Given the description of an element on the screen output the (x, y) to click on. 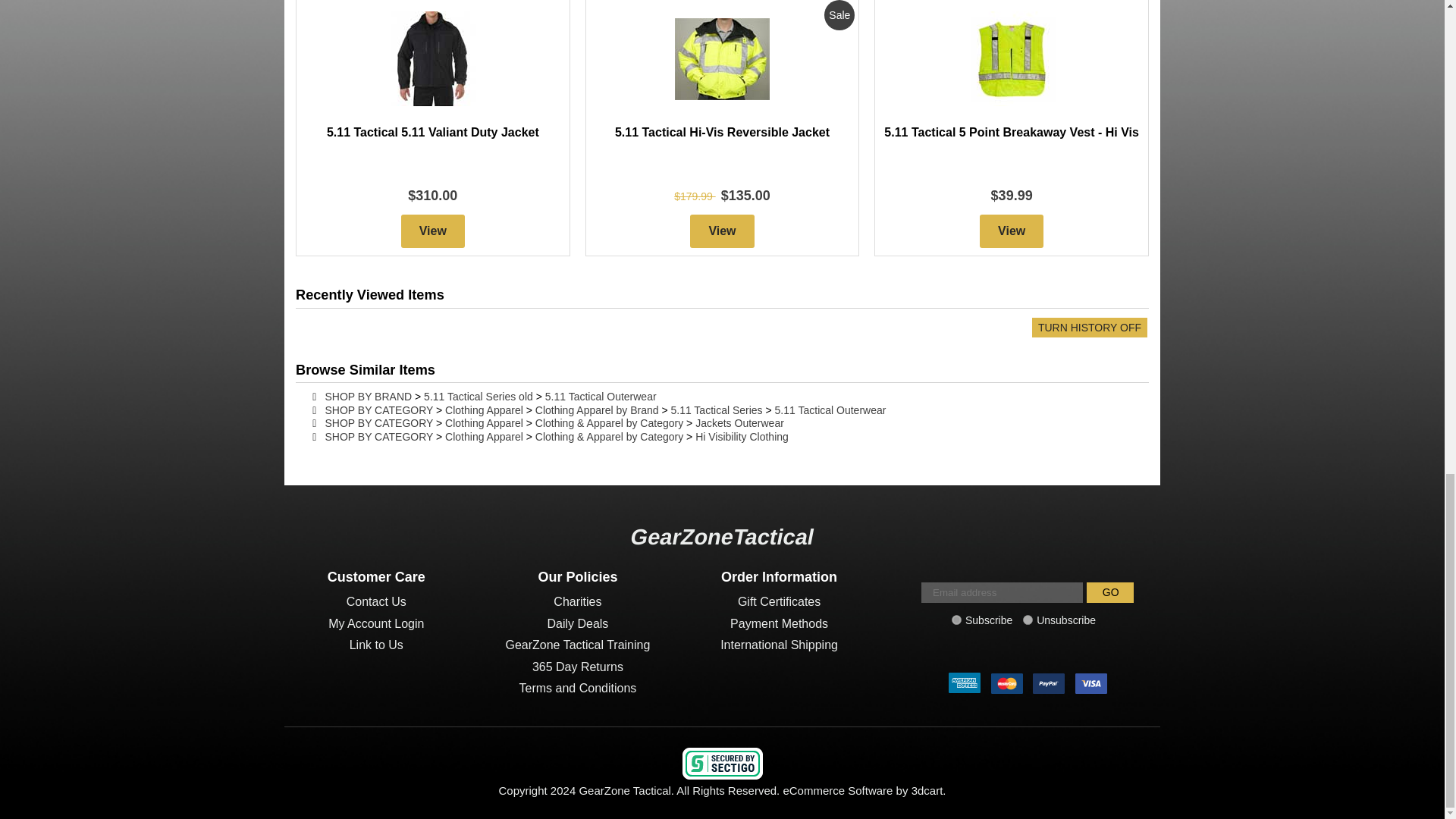
View (722, 231)
Turn History Off (1089, 327)
View (1011, 231)
1 (956, 619)
View (432, 231)
0 (1027, 619)
